Given the description of an element on the screen output the (x, y) to click on. 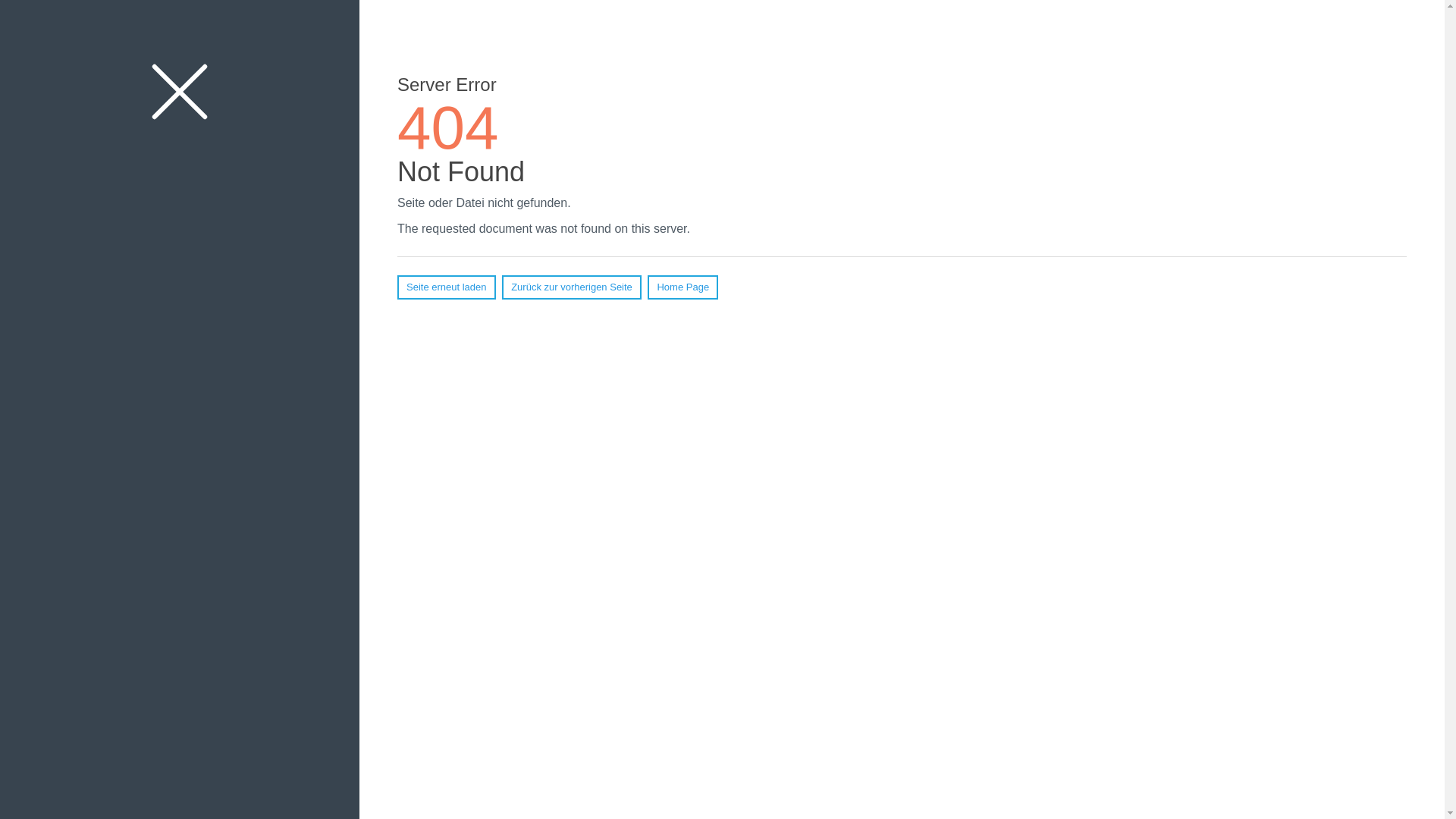
Home Page Element type: text (682, 287)
Seite erneut laden Element type: text (446, 287)
